Given the description of an element on the screen output the (x, y) to click on. 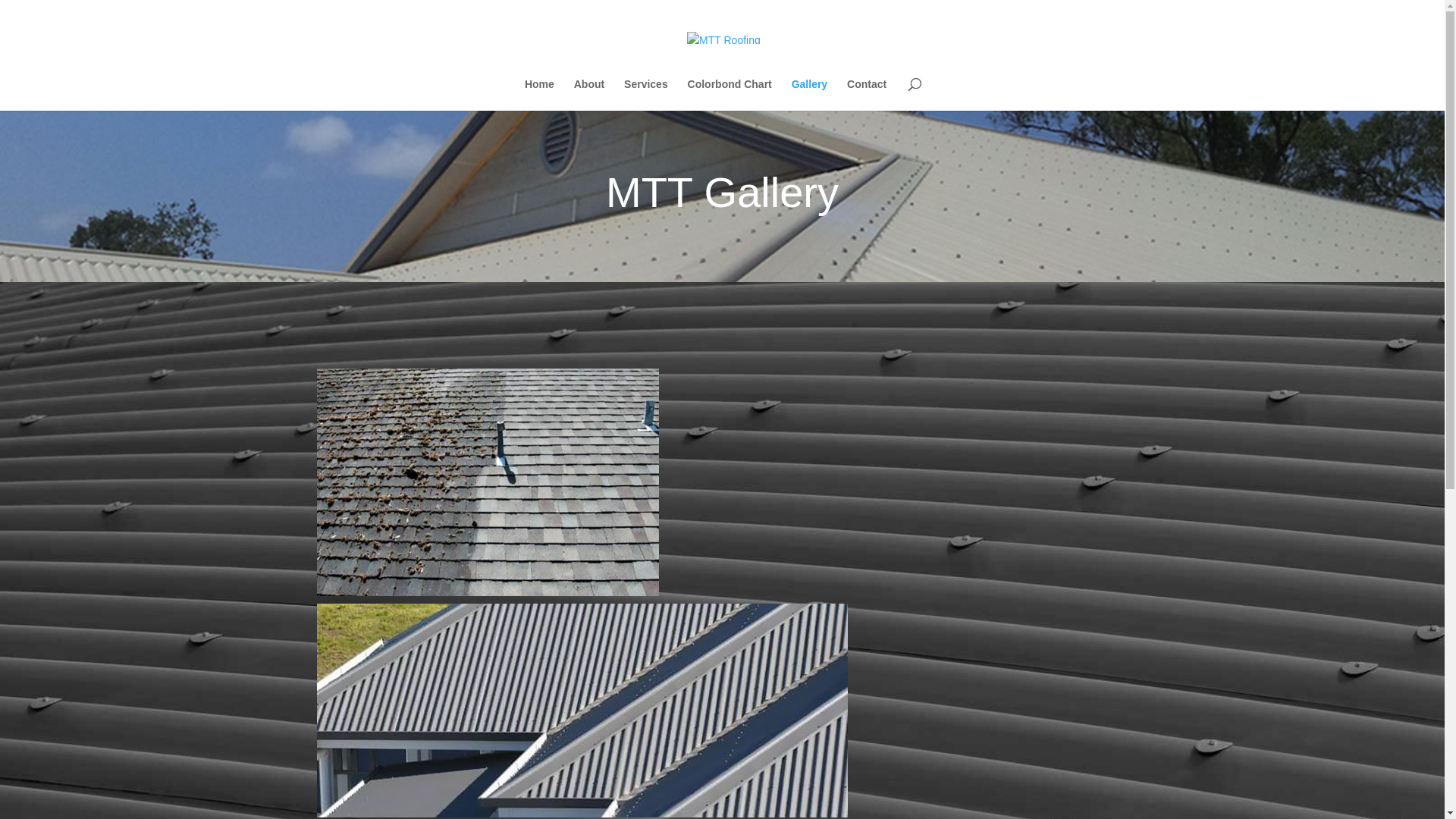
Roofing_Melbourne_01 Element type: hover (581, 710)
Colorbond Chart Element type: text (729, 94)
Services Element type: text (646, 94)
Contact Element type: text (866, 94)
Roofing_Melbourne_10 Element type: hover (487, 482)
About Element type: text (589, 94)
Gallery Element type: text (809, 94)
Home Element type: text (539, 94)
